Given the description of an element on the screen output the (x, y) to click on. 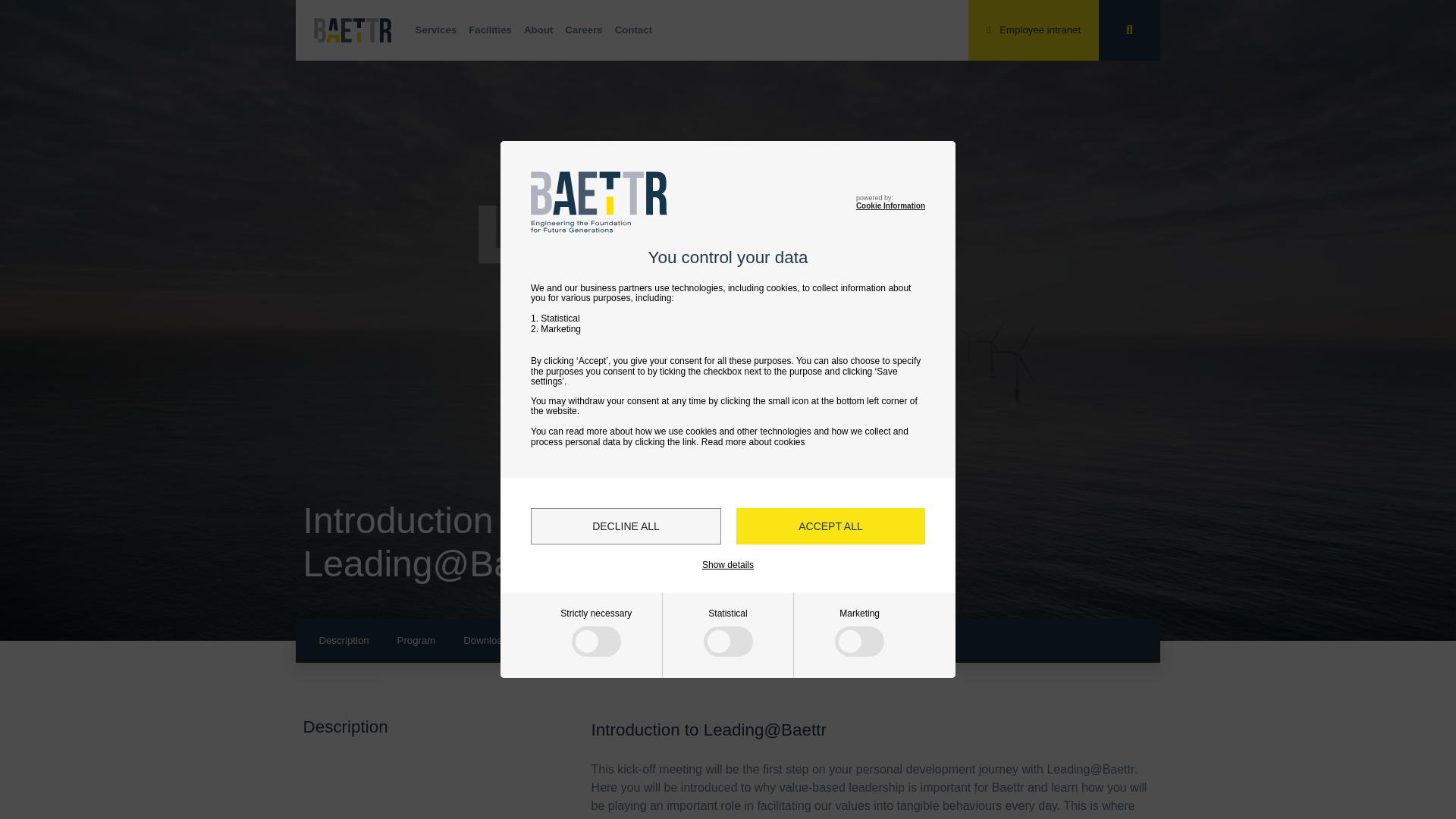
Read more about cookies (753, 441)
Show details (727, 564)
ACCEPT ALL (830, 525)
DECLINE ALL (625, 525)
Cookie Information (890, 205)
